Given the description of an element on the screen output the (x, y) to click on. 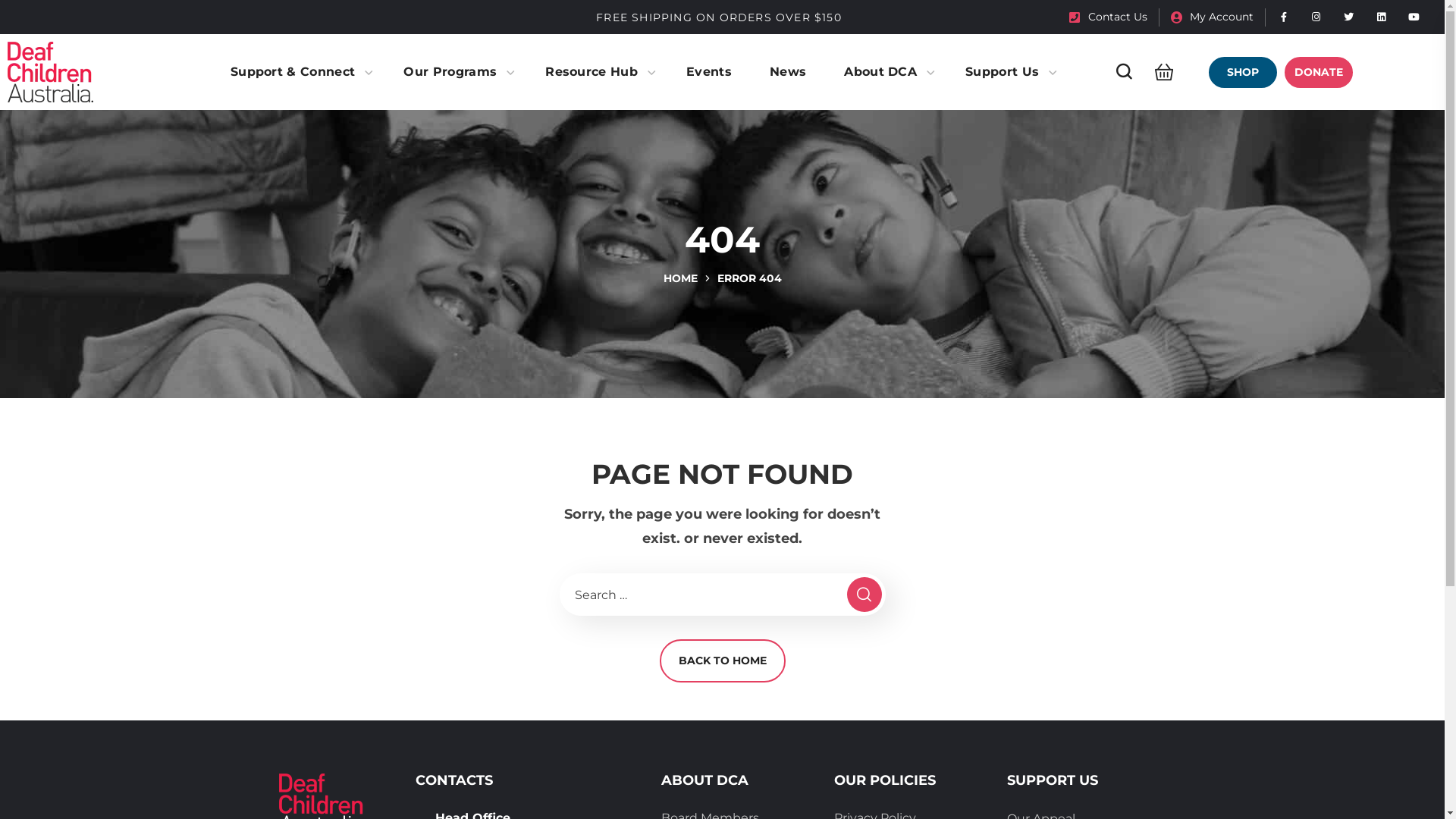
My Account Element type: text (1211, 17)
Linked in Element type: hover (1381, 17)
BACK TO HOME Element type: text (722, 660)
Search Element type: text (1111, 26)
Facebook Element type: hover (1283, 17)
Resource Hub Element type: text (596, 71)
You Tube Element type: hover (1413, 17)
Contact Us Element type: text (1108, 17)
Search Element type: text (864, 584)
DONATE Element type: text (1318, 71)
Search Element type: text (1075, 152)
Instagram Element type: hover (1316, 17)
Support & Connect Element type: text (297, 71)
Our Programs Element type: text (455, 71)
SHOP Element type: text (1242, 71)
About DCA Element type: text (885, 71)
Twitter Element type: hover (1348, 17)
Click to open Shopping Cart Element type: hover (1159, 71)
Events Element type: text (708, 71)
HOME Element type: text (679, 278)
News Element type: text (787, 71)
Support Us Element type: text (1007, 71)
